Given the description of an element on the screen output the (x, y) to click on. 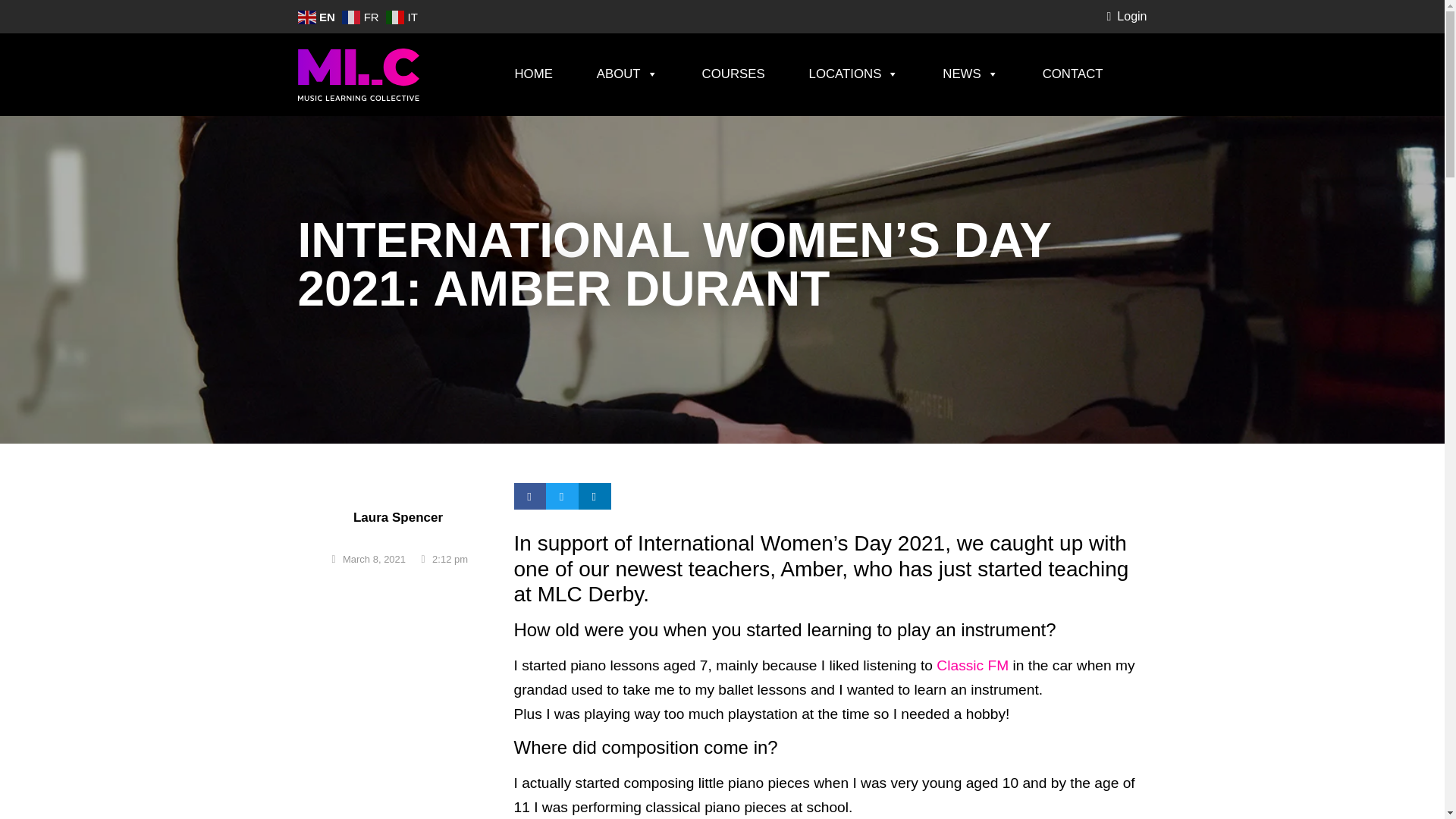
English (317, 15)
Italian (403, 15)
HOME (532, 73)
French (361, 15)
COURSES (733, 73)
EN (317, 15)
ABOUT (627, 73)
FR (361, 15)
IT (403, 15)
LOCATIONS (854, 73)
Login (1125, 16)
